Given the description of an element on the screen output the (x, y) to click on. 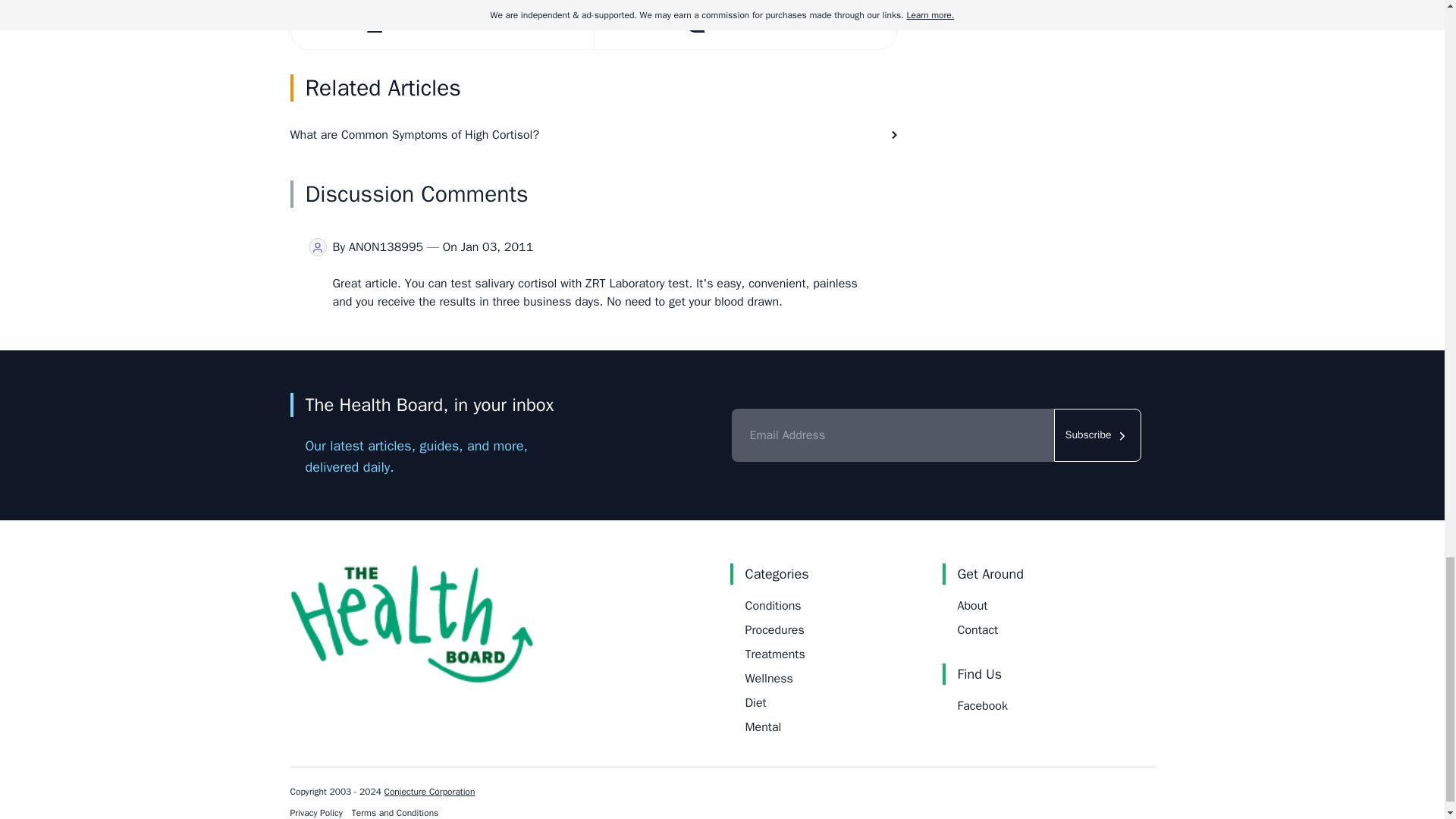
Subscribe (1097, 434)
Conditions (772, 605)
What are Common Symptoms of High Cortisol? (592, 134)
Share Feedback (743, 24)
See our Editorial Process (442, 24)
